Given the description of an element on the screen output the (x, y) to click on. 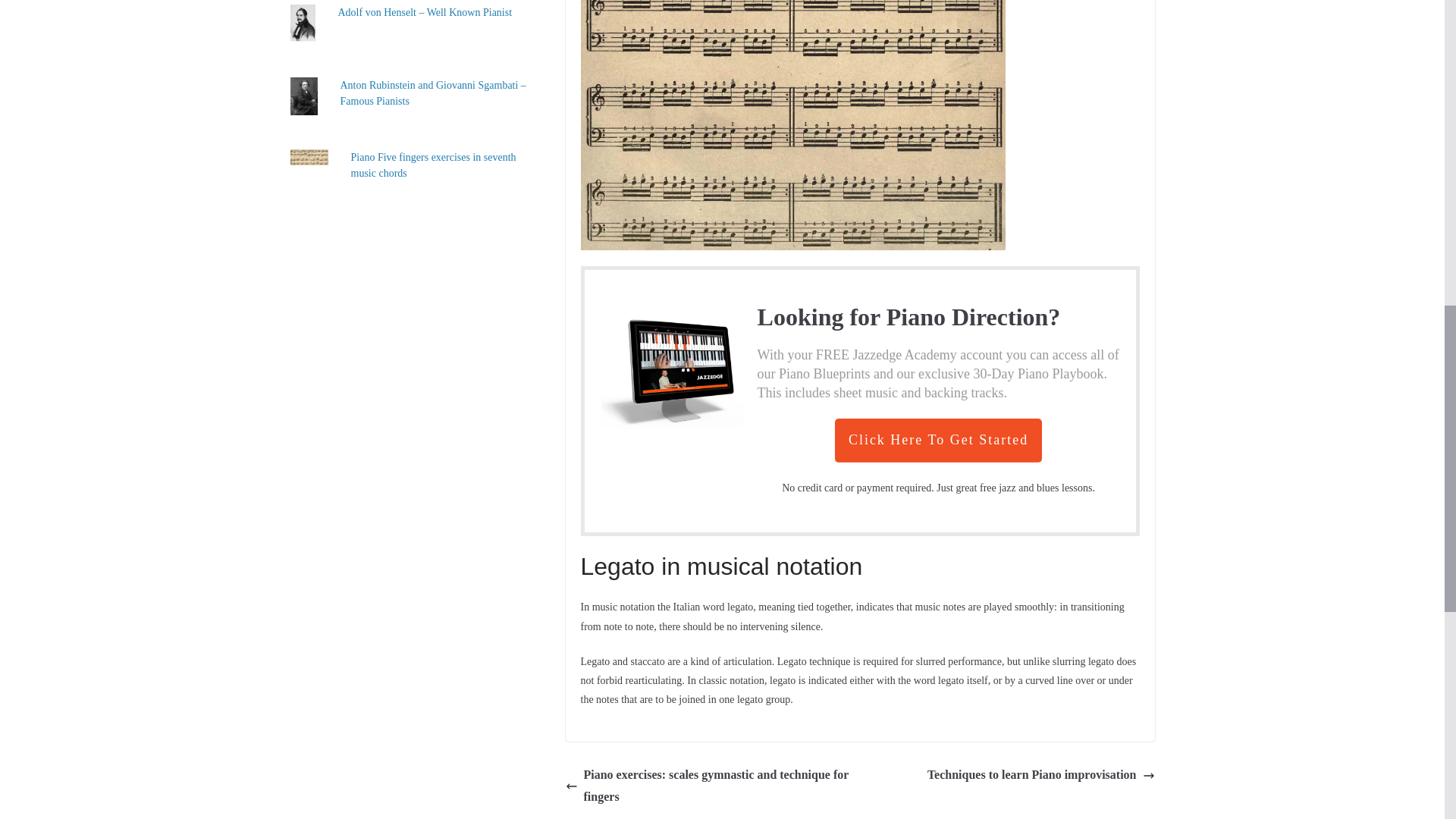
legato finger articulation (793, 125)
Click Here To Get Started (938, 440)
Piano exercises: scales gymnastic and technique for fingers (709, 786)
Techniques to learn Piano improvisation (1040, 775)
